Given the description of an element on the screen output the (x, y) to click on. 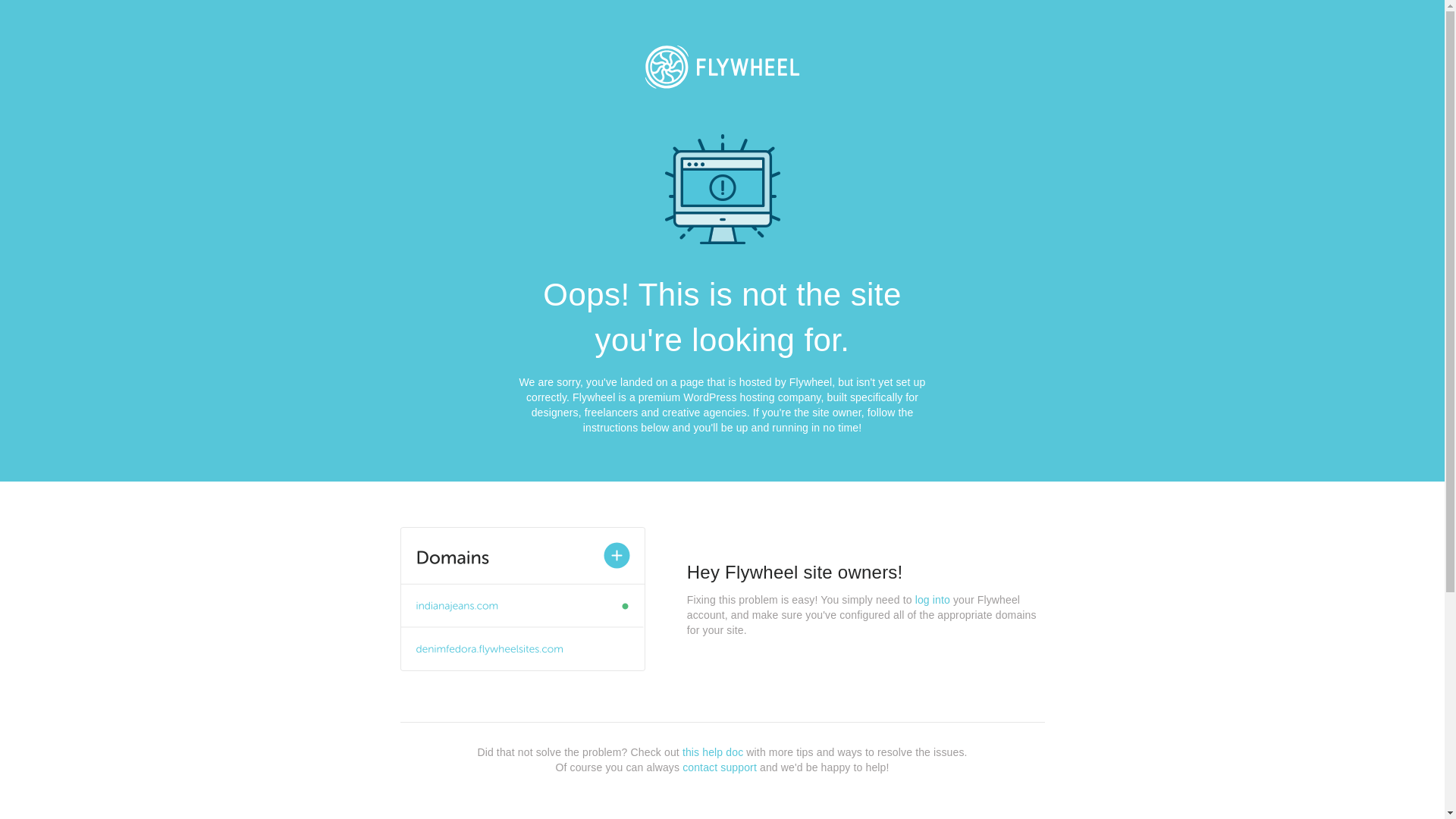
log into (932, 599)
contact support (719, 767)
this help doc (712, 752)
